Given the description of an element on the screen output the (x, y) to click on. 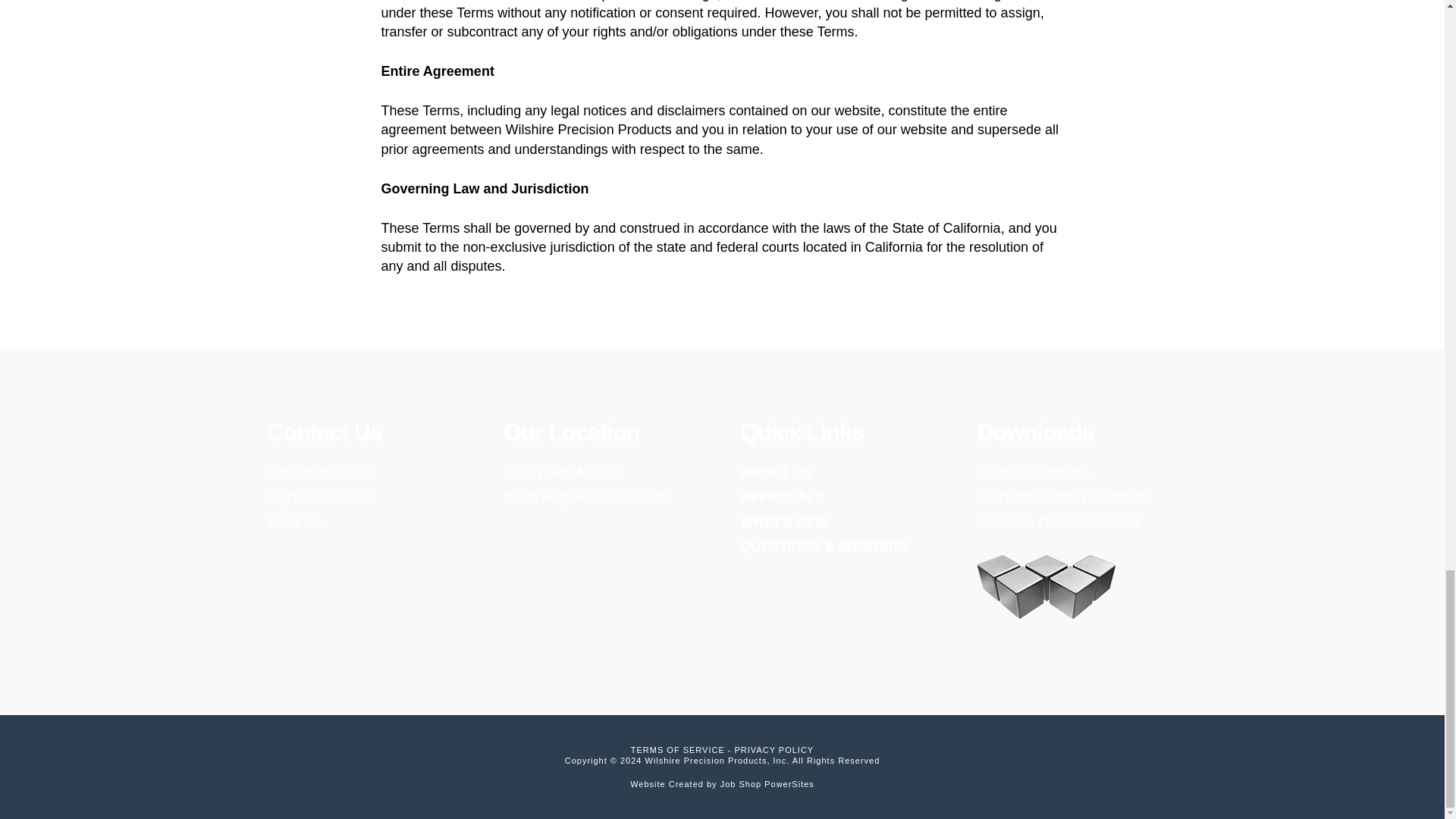
Nadcap Certificate (1032, 473)
Email Us (293, 522)
Job Shop PowerSites (766, 783)
Purchase Order Conditions (1058, 522)
TERMS OF SERVICE (587, 485)
PRIVACY POLICY (677, 749)
ABOUT US (774, 749)
APPROVALS (774, 473)
WHAT'S NEW (781, 497)
